Given the description of an element on the screen output the (x, y) to click on. 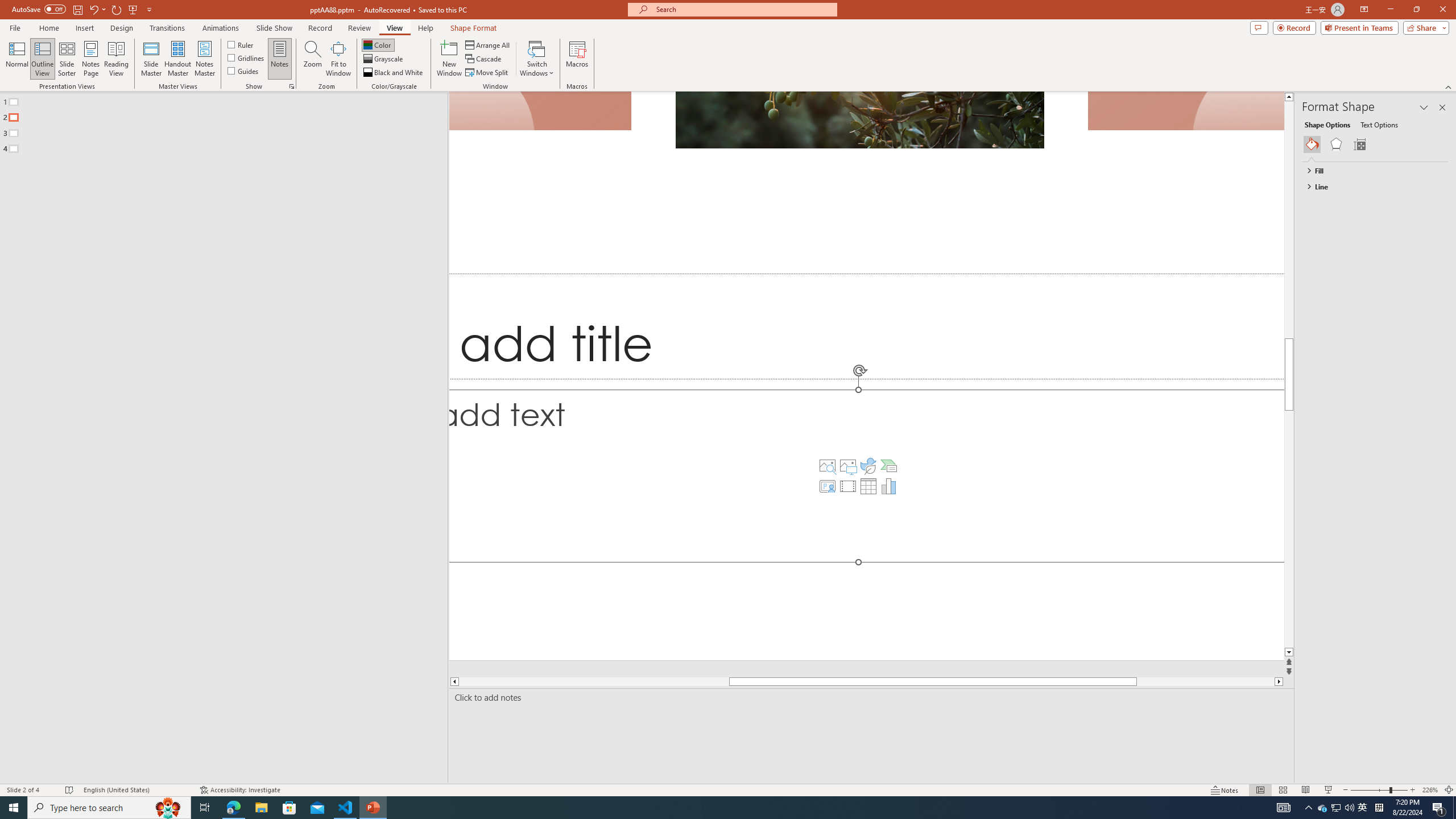
Fill (1370, 170)
Content Placeholder (866, 475)
Notes Master (204, 58)
Insert a SmartArt Graphic (888, 466)
Zoom 226% (1430, 790)
Grayscale (383, 58)
